Given the description of an element on the screen output the (x, y) to click on. 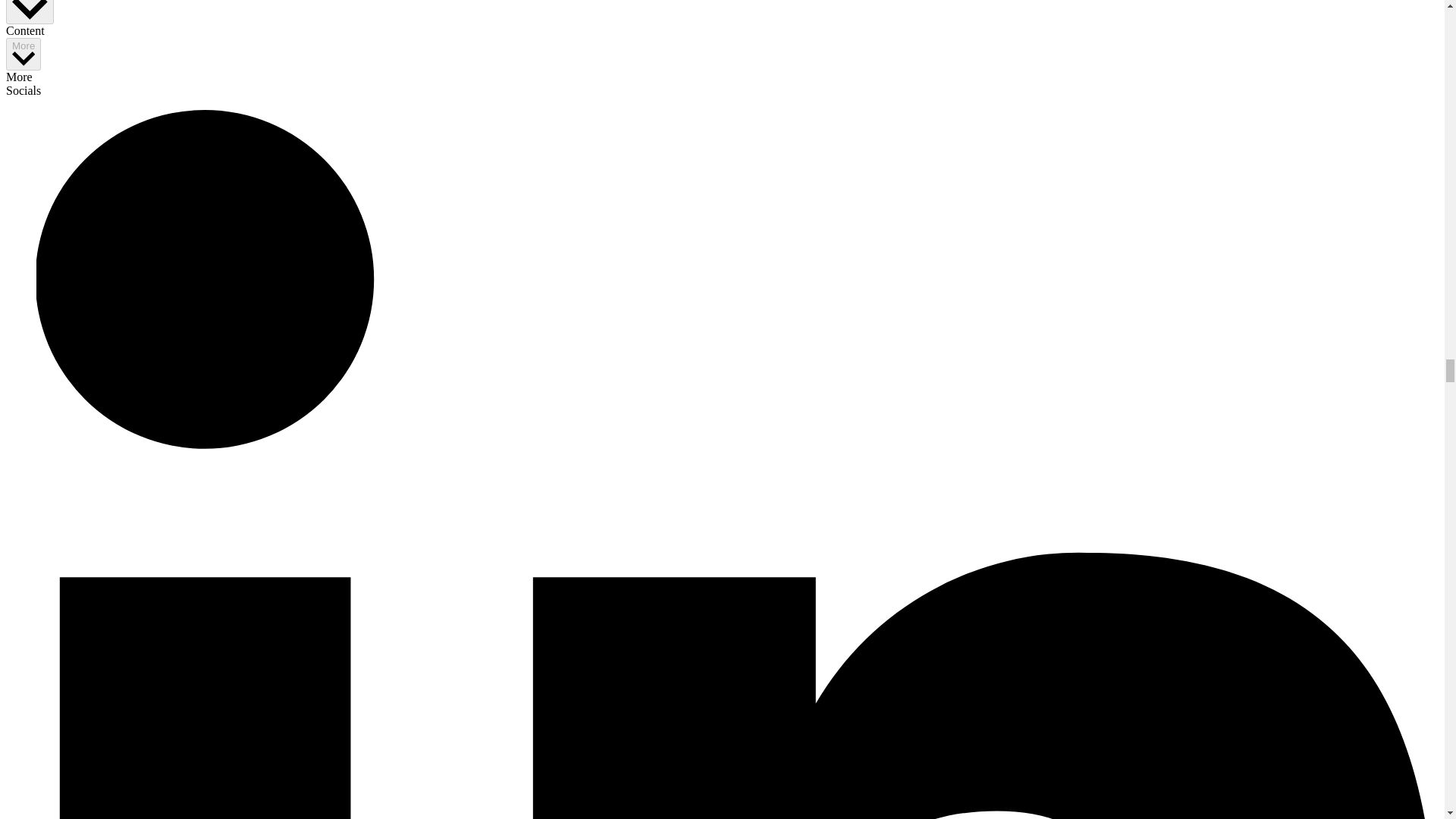
More (22, 53)
Content (29, 12)
